Given the description of an element on the screen output the (x, y) to click on. 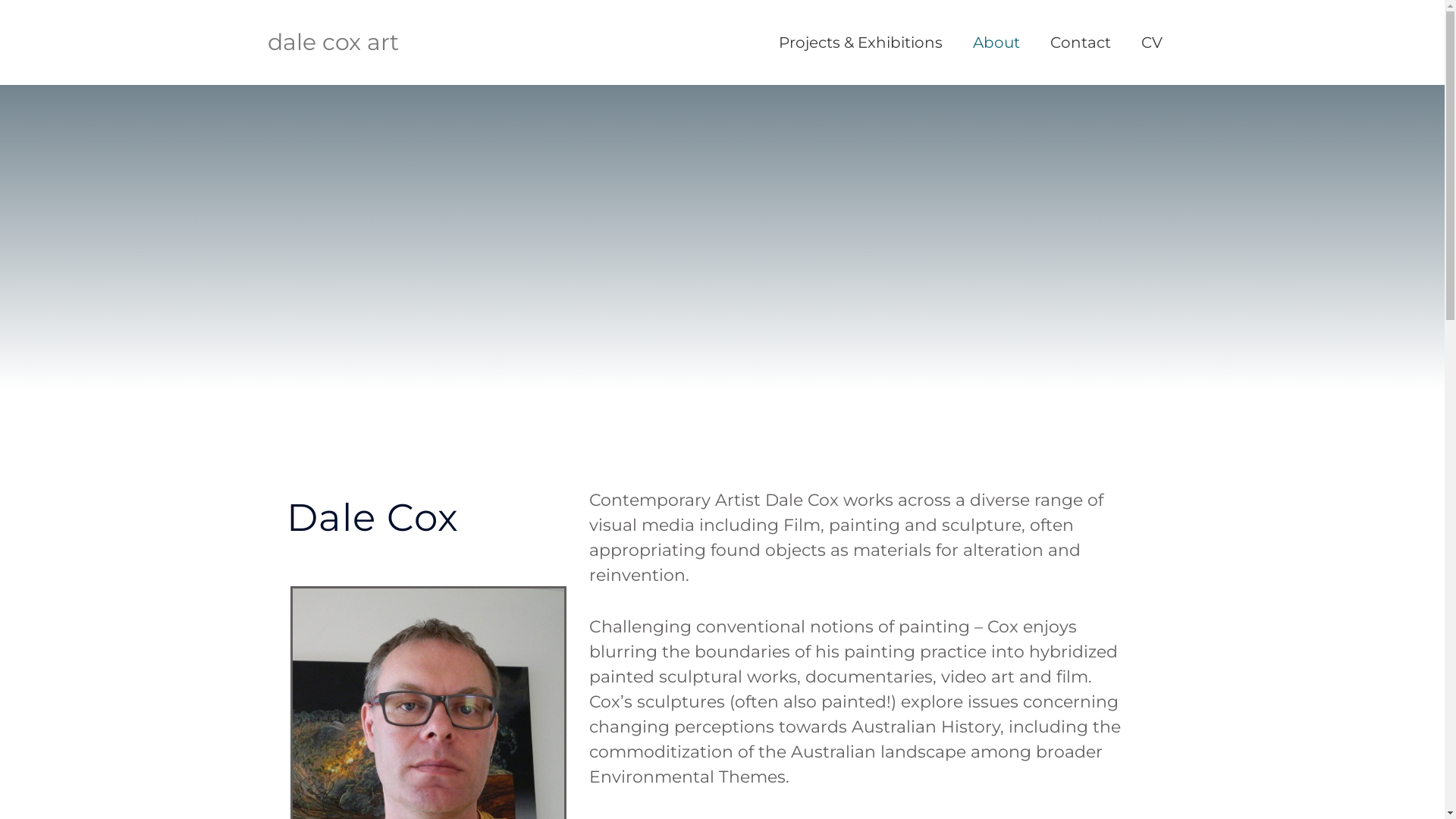
Contact Element type: text (1079, 42)
Projects & Exhibitions Element type: text (859, 42)
CV Element type: text (1150, 42)
dale cox art Element type: text (332, 42)
About Element type: text (995, 42)
